Given the description of an element on the screen output the (x, y) to click on. 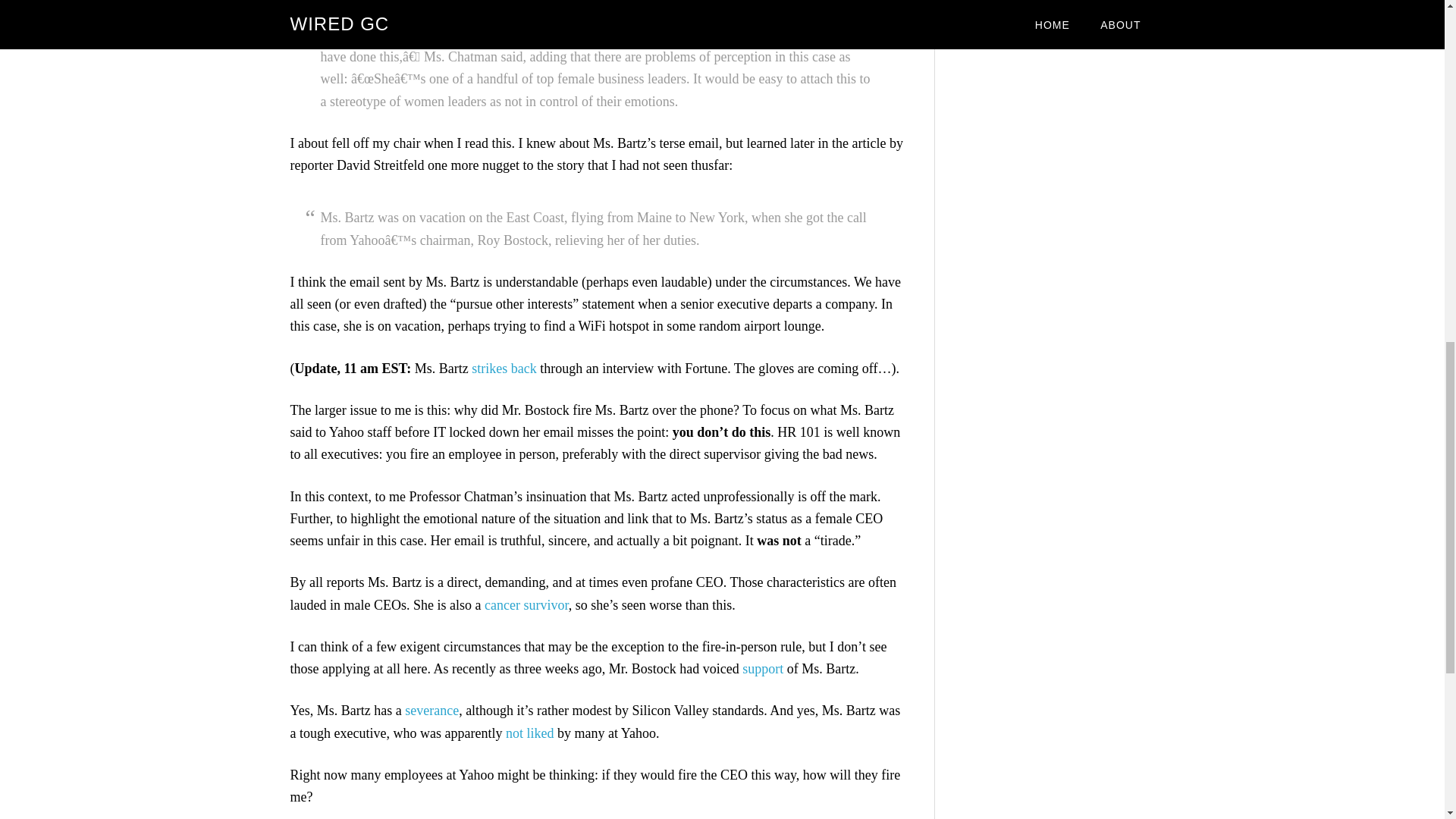
not liked (529, 732)
support (762, 668)
severance (431, 710)
strikes back (503, 368)
cancer survivor (526, 604)
